Given the description of an element on the screen output the (x, y) to click on. 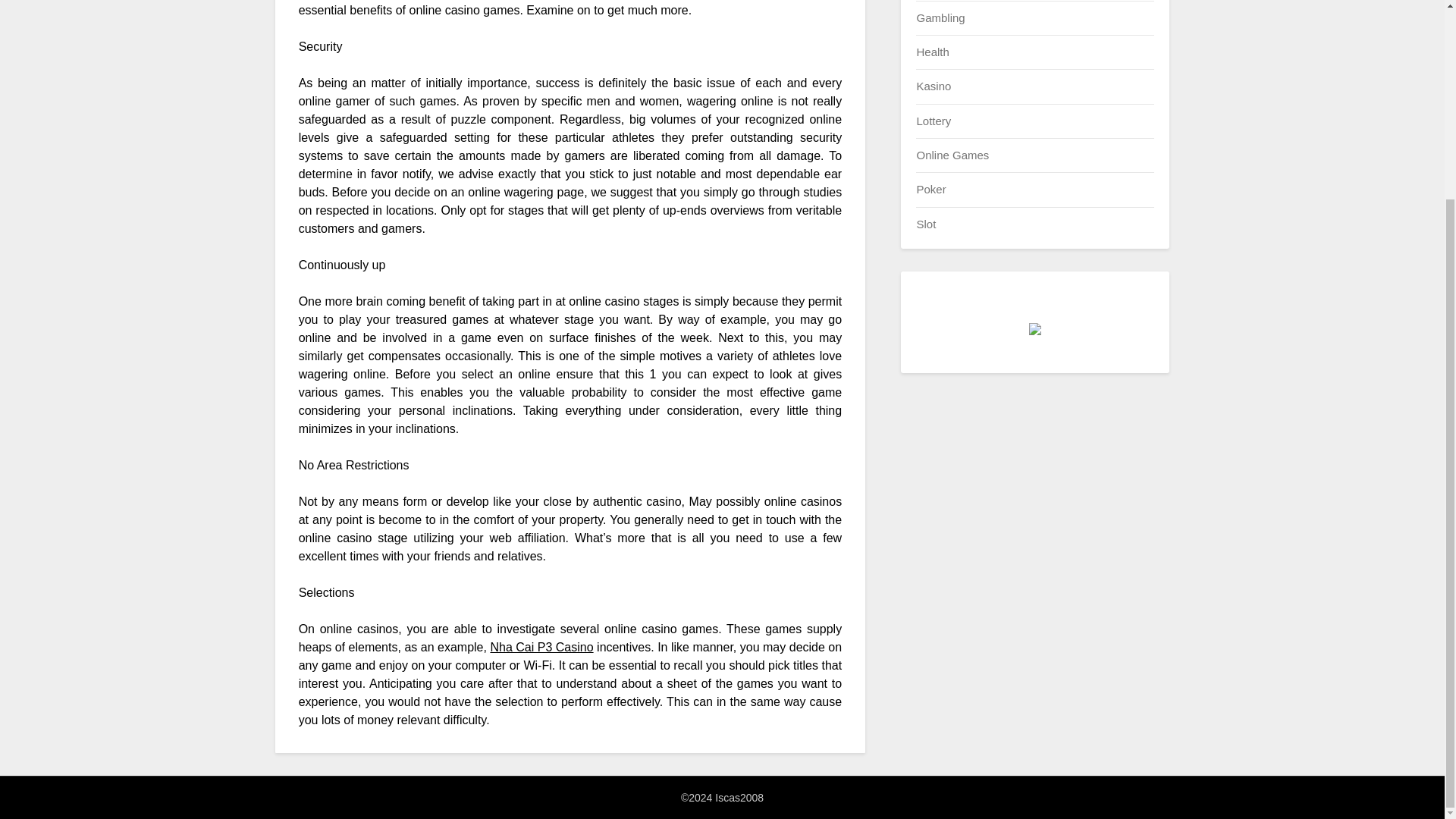
Online Games (951, 154)
Gambling (939, 16)
Kasino (932, 85)
Lottery (932, 120)
Health (932, 51)
Slot (925, 223)
Poker (929, 188)
Nha Cai P3 Casino (540, 646)
